Given the description of an element on the screen output the (x, y) to click on. 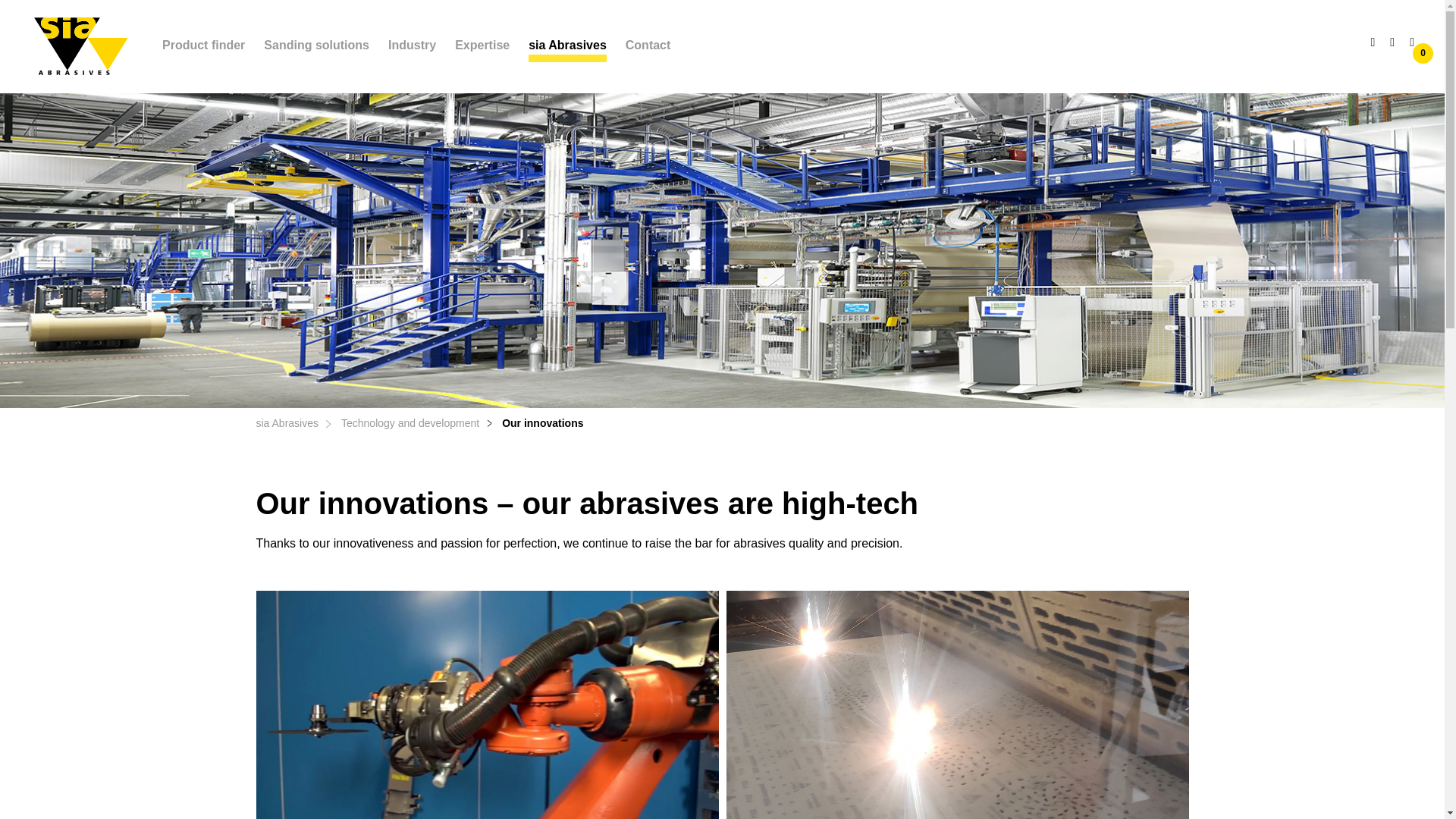
Product finder (202, 45)
Product finder (202, 45)
Sanding solutions (316, 45)
Industry (411, 45)
Industry (411, 45)
Sanding solutions (316, 45)
